Given the description of an element on the screen output the (x, y) to click on. 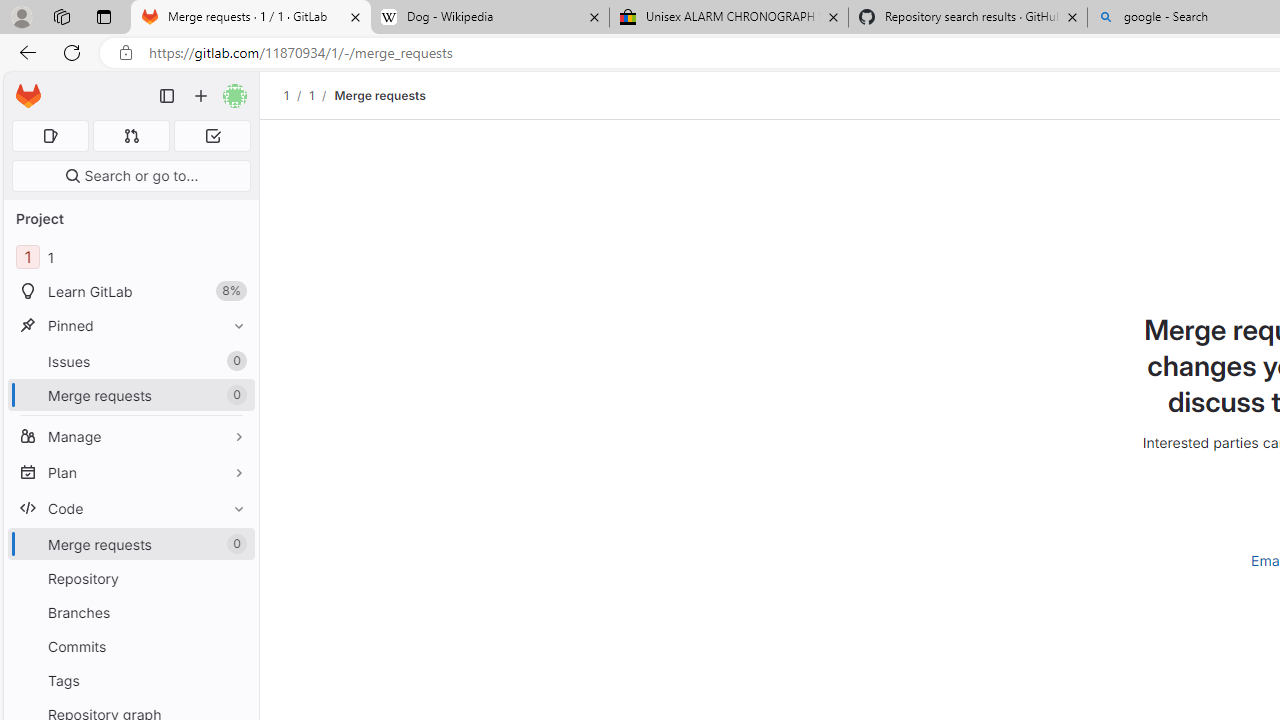
Pin Branches (234, 611)
Tags (130, 679)
11 (130, 257)
Homepage (27, 96)
Unpin Issues (234, 361)
Merge requests 0 (131, 136)
Primary navigation sidebar (167, 96)
Manage (130, 435)
Pin Repository (234, 578)
Create new... (201, 96)
1/ (321, 95)
Merge requests0 (130, 543)
Merge requests 0 (130, 543)
